Given the description of an element on the screen output the (x, y) to click on. 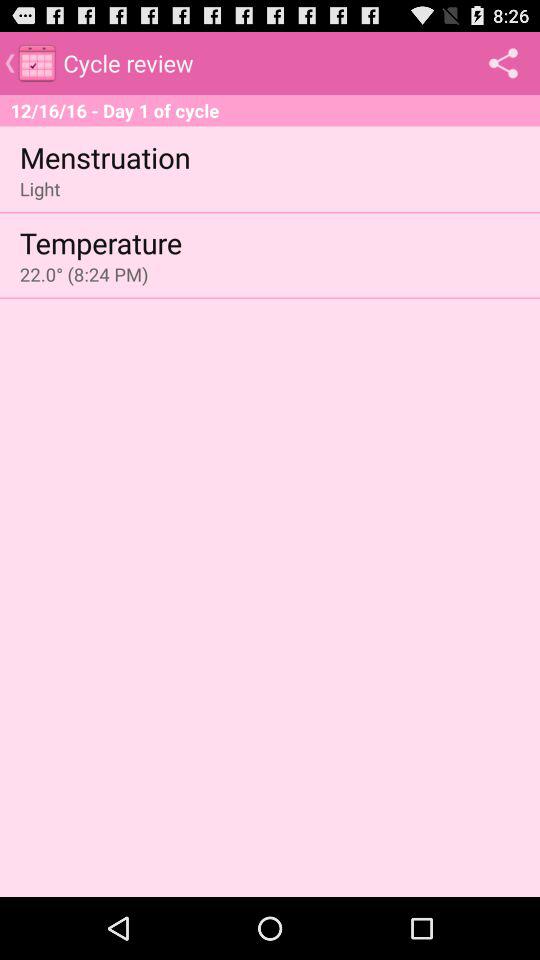
launch item at the top right corner (503, 62)
